Given the description of an element on the screen output the (x, y) to click on. 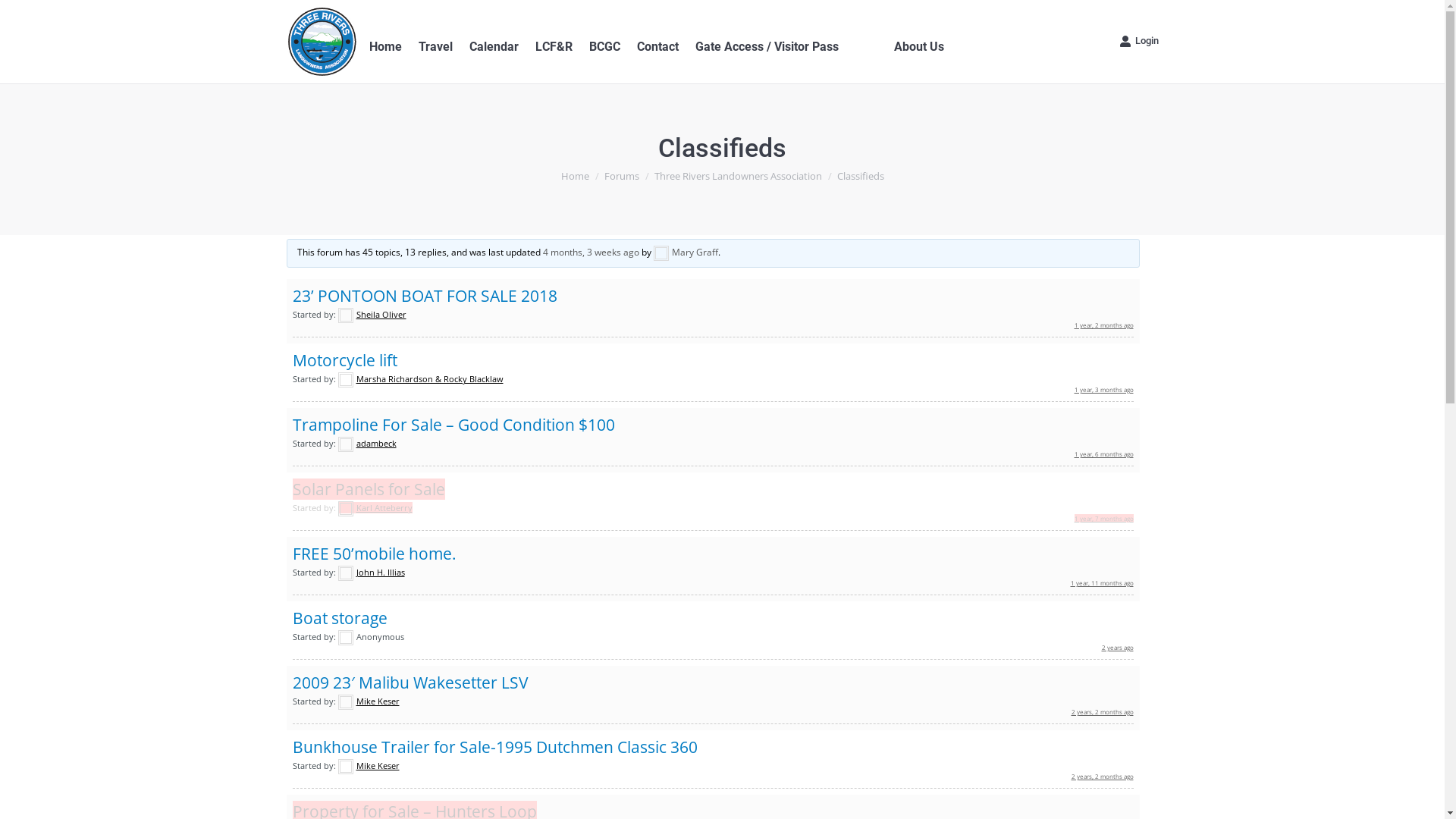
Bunkhouse Trailer for Sale-1995 Dutchmen Classic 360 Element type: text (494, 746)
Sheila Oliver Element type: text (372, 314)
Mike Keser Element type: text (368, 765)
Mary Graff Element type: text (685, 251)
Motorcycle lift Element type: text (344, 359)
Boat storage Element type: text (339, 617)
2 years ago Element type: text (1116, 647)
About Us Element type: text (918, 46)
1 year, 3 months ago Element type: text (1102, 389)
Marsha Richardson & Rocky Blacklaw Element type: text (420, 378)
LCF&R Element type: text (553, 46)
Travel Element type: text (435, 46)
1 year, 7 months ago Element type: text (1102, 518)
Gate Access / Visitor Pass Element type: text (765, 46)
Mike Keser Element type: text (368, 700)
adambeck Element type: text (367, 442)
Contact Element type: text (657, 46)
John H. Illias Element type: text (371, 571)
2 years, 2 months ago Element type: text (1101, 711)
2 years, 2 months ago Element type: text (1101, 775)
Solar Panels for Sale Element type: text (368, 488)
Calendar Element type: text (492, 46)
Home Element type: text (384, 46)
Home Element type: text (575, 175)
Login Element type: text (1138, 40)
1 year, 11 months ago Element type: text (1101, 582)
1 year, 2 months ago Element type: text (1102, 324)
1 year, 6 months ago Element type: text (1102, 453)
Karl Atteberry Element type: text (375, 507)
BCGC Element type: text (603, 46)
Three Rivers Landowners Association Element type: text (737, 175)
4 months, 3 weeks ago Element type: text (590, 251)
Forums Element type: text (620, 175)
